Given the description of an element on the screen output the (x, y) to click on. 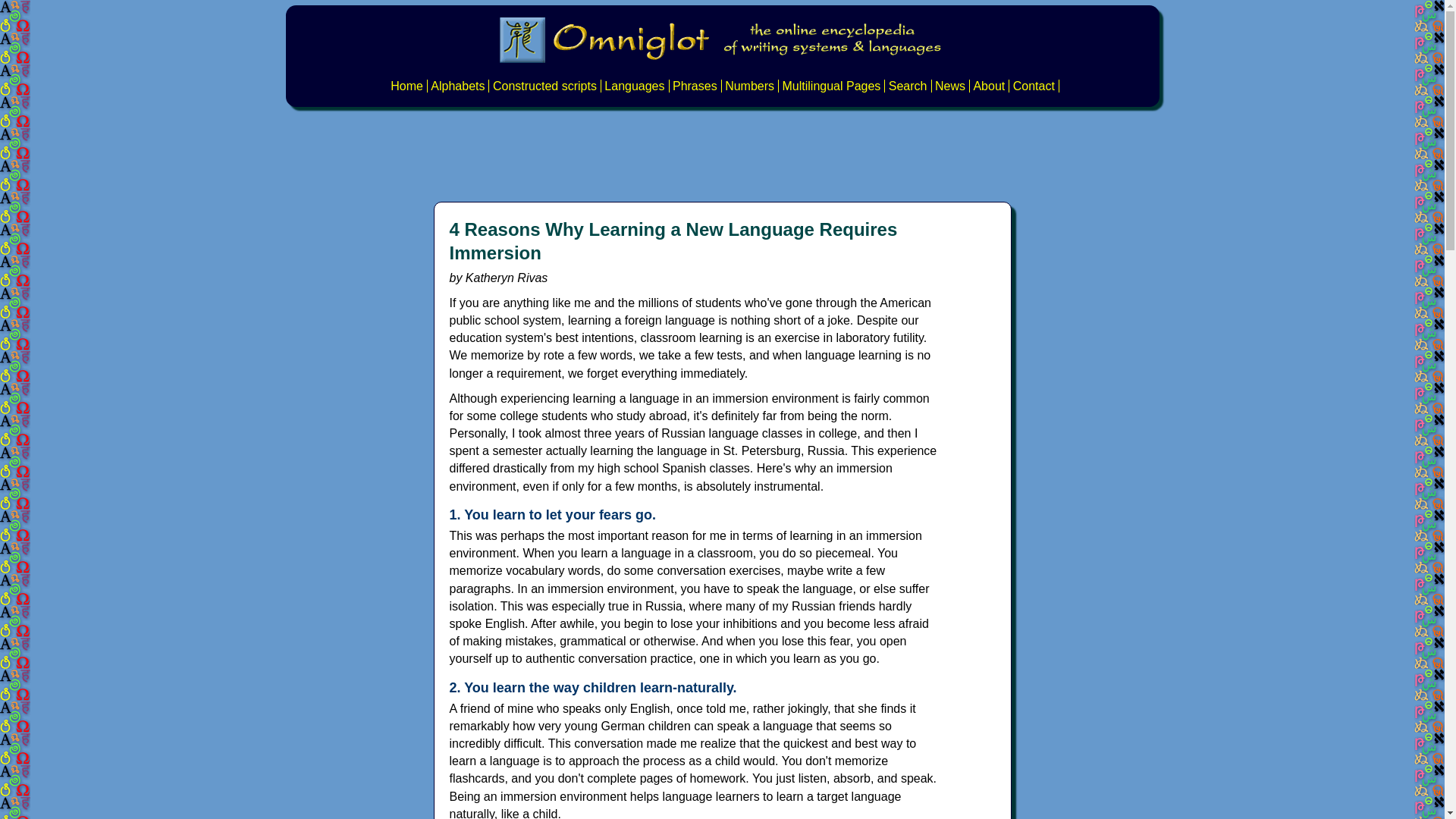
Search (907, 85)
Multilingual Pages (830, 85)
Alphabets (457, 85)
News (949, 85)
Phrases (694, 85)
Numbers (749, 85)
Contact (1033, 85)
About (988, 85)
Constructed scripts (544, 85)
Languages (633, 85)
